Given the description of an element on the screen output the (x, y) to click on. 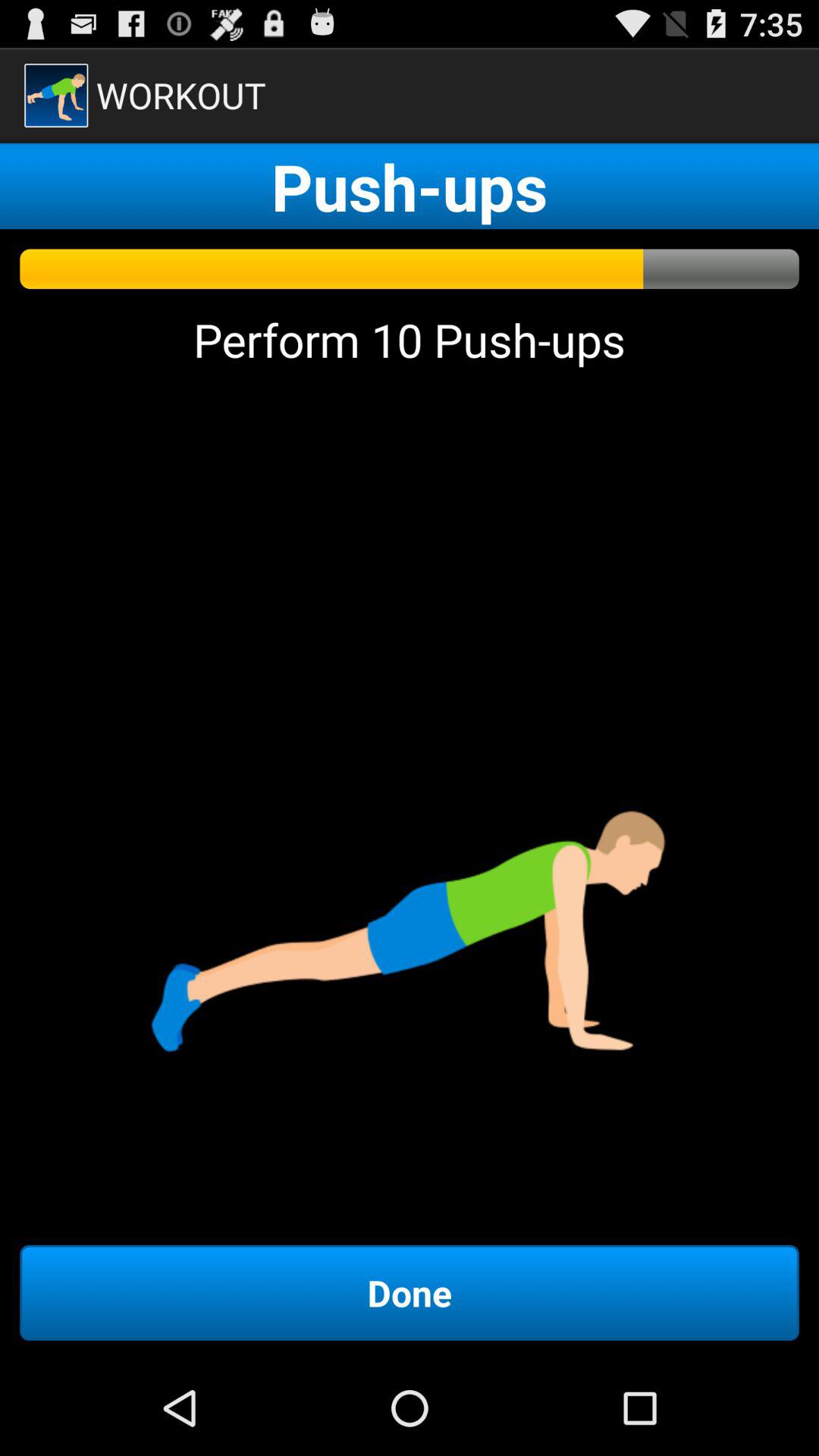
swipe until the done (409, 1292)
